Given the description of an element on the screen output the (x, y) to click on. 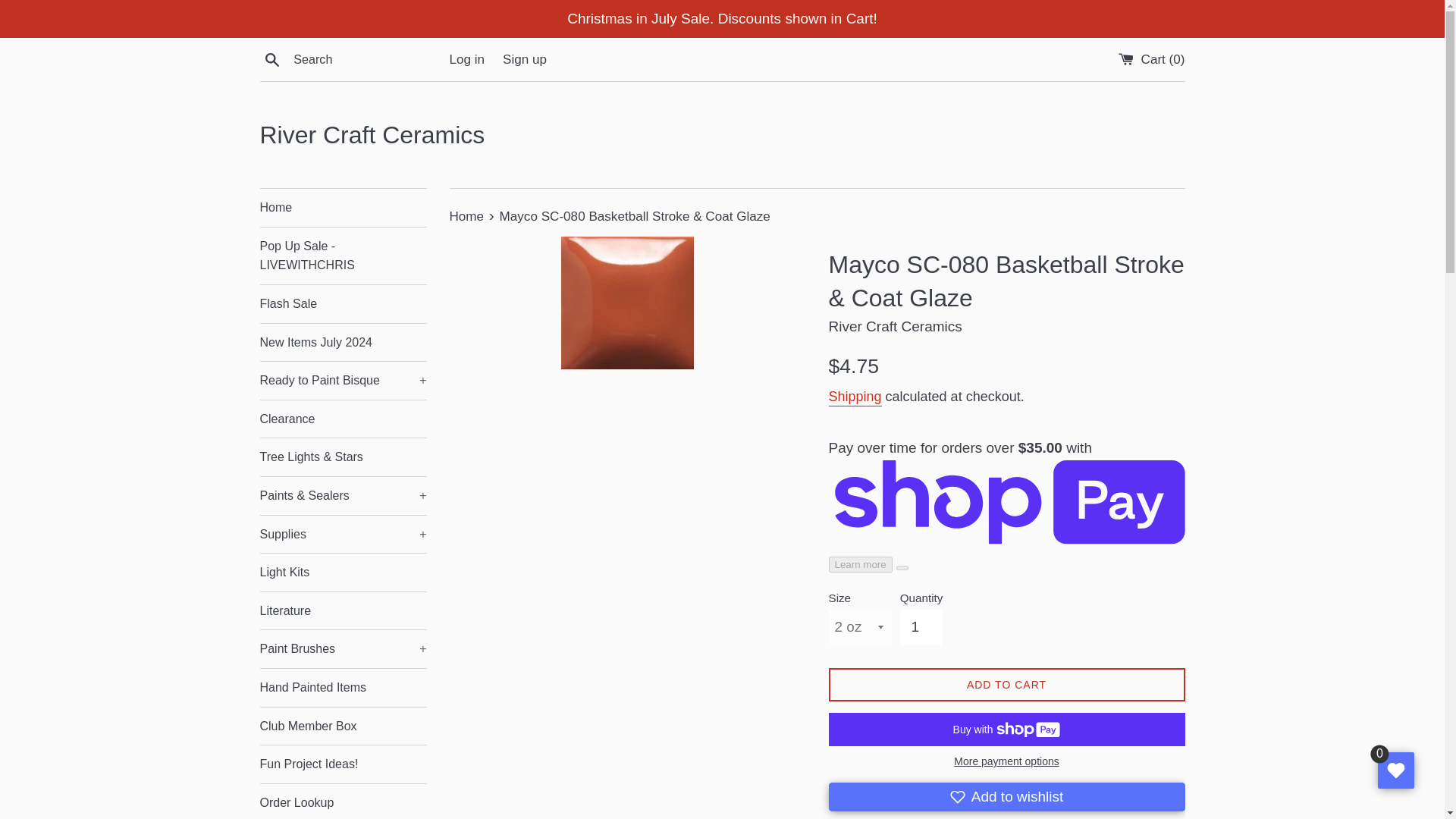
Search (271, 58)
River Craft Ceramics (722, 134)
1 (920, 626)
Flash Sale (342, 303)
New Items July 2024 (342, 342)
Add to wishlist (1006, 796)
Sign up (524, 59)
Back to the frontpage (467, 216)
Log in (466, 59)
Home (342, 207)
Pop Up Sale - LIVEWITHCHRIS (342, 255)
